Given the description of an element on the screen output the (x, y) to click on. 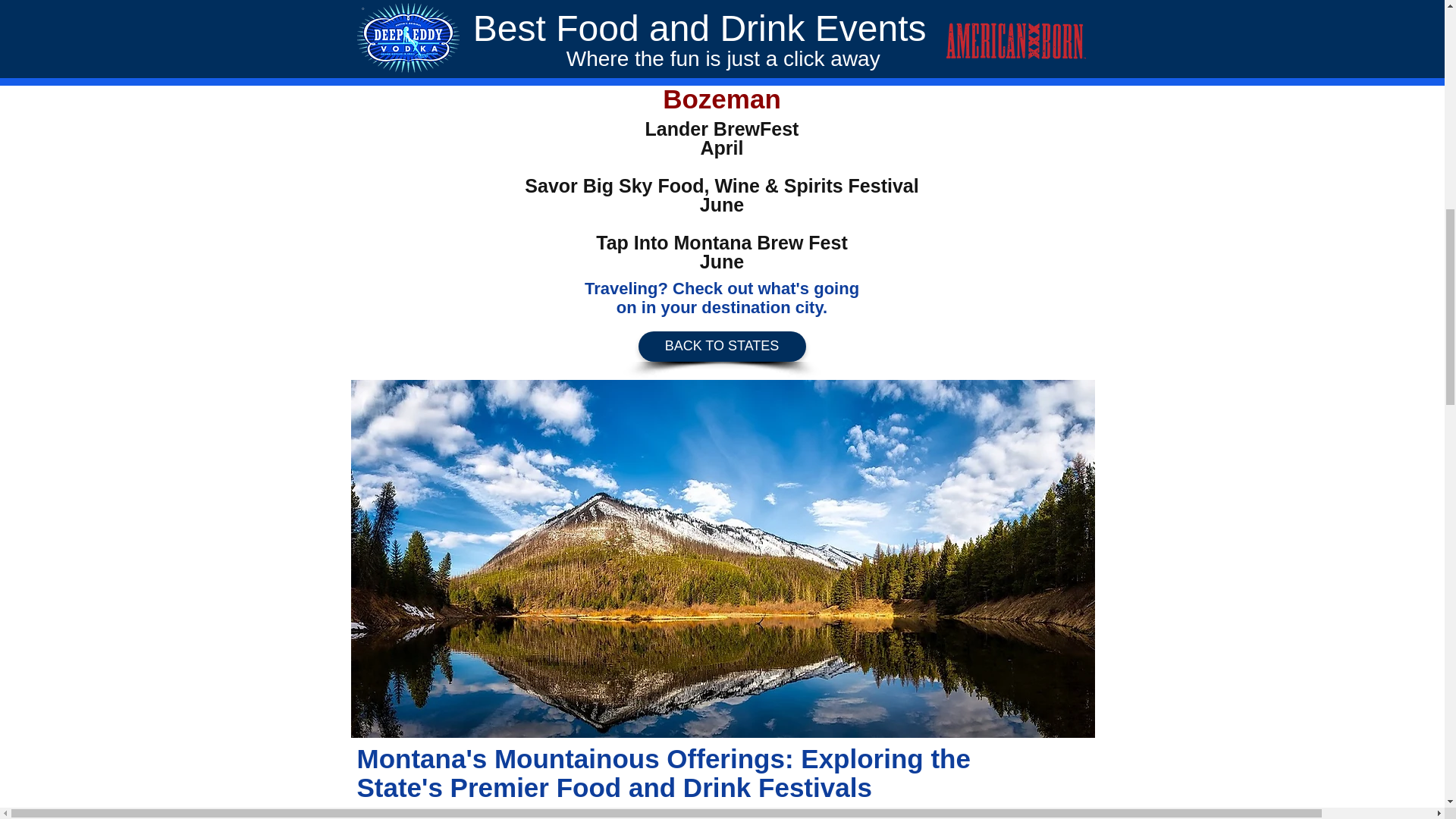
BACK TO STATES (722, 346)
Great Northwest Oktoberfish (721, 55)
Great Bear Fest (721, 4)
Tap Into Montana Brew Fest (721, 242)
Lander BrewFest (722, 128)
